Given the description of an element on the screen output the (x, y) to click on. 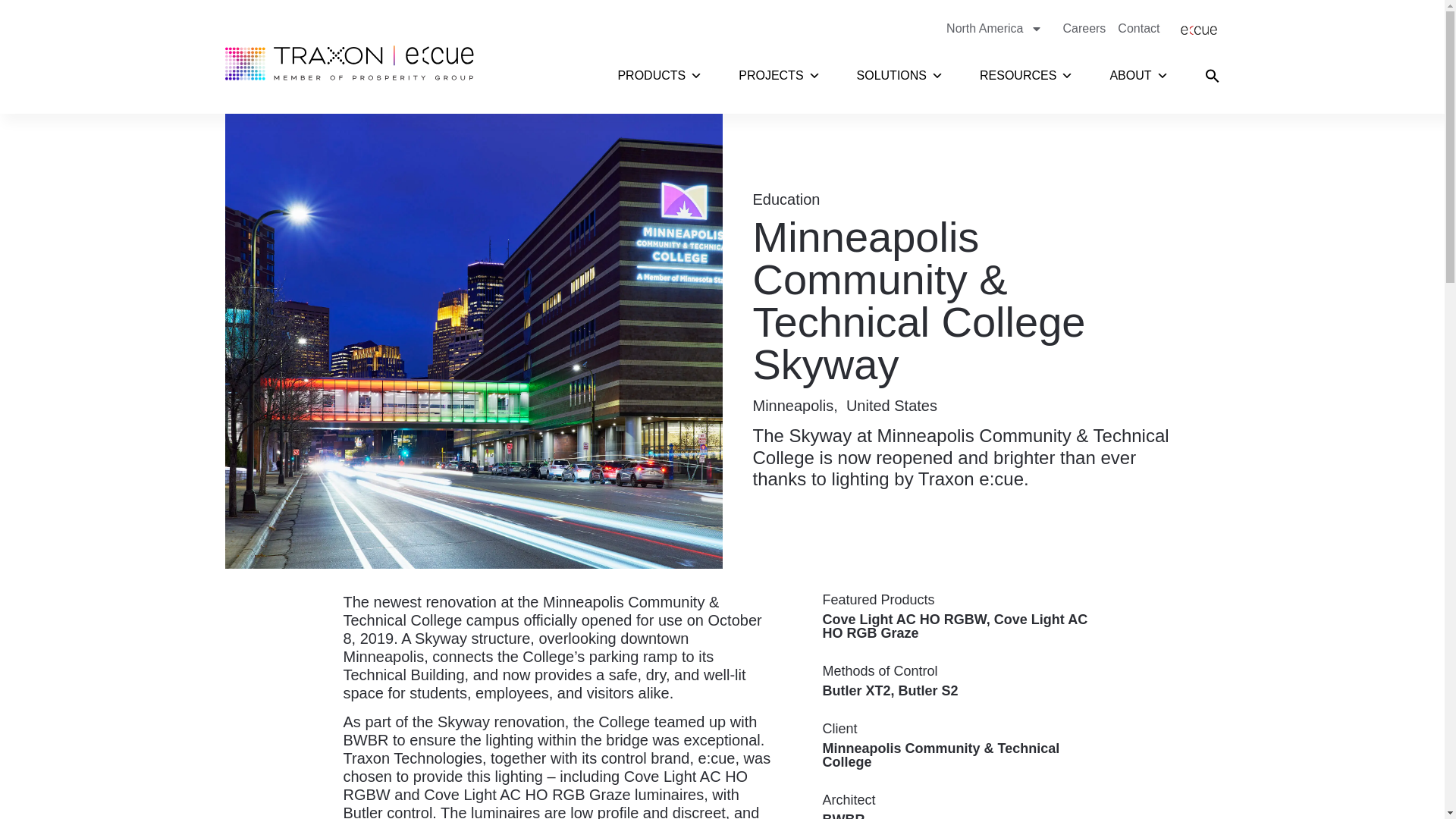
North America (997, 28)
PRODUCTS (659, 75)
Contact (1138, 28)
Careers (1083, 28)
